Given the description of an element on the screen output the (x, y) to click on. 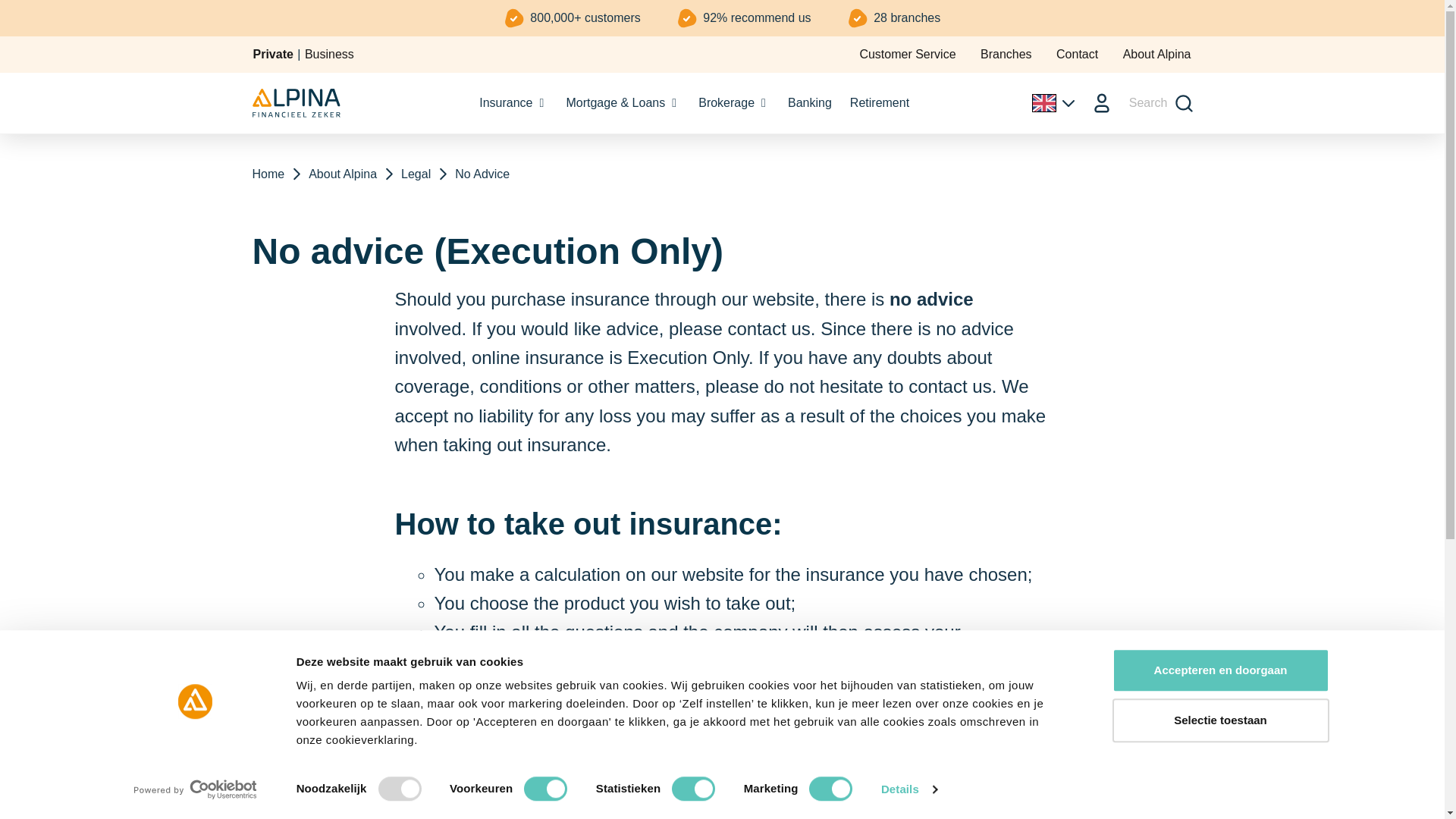
Details (908, 789)
